Given the description of an element on the screen output the (x, y) to click on. 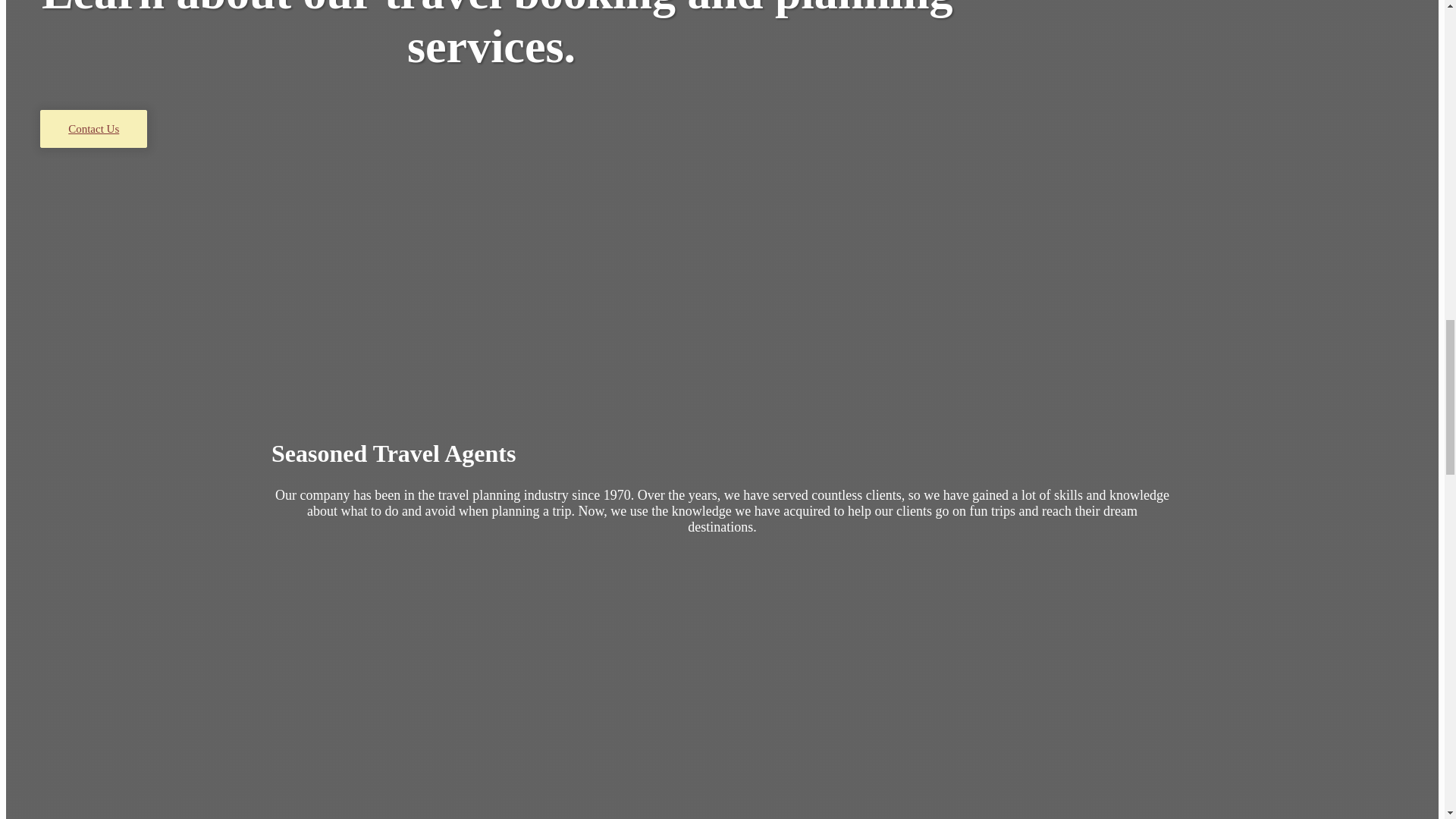
Contact Us (93, 128)
